Given the description of an element on the screen output the (x, y) to click on. 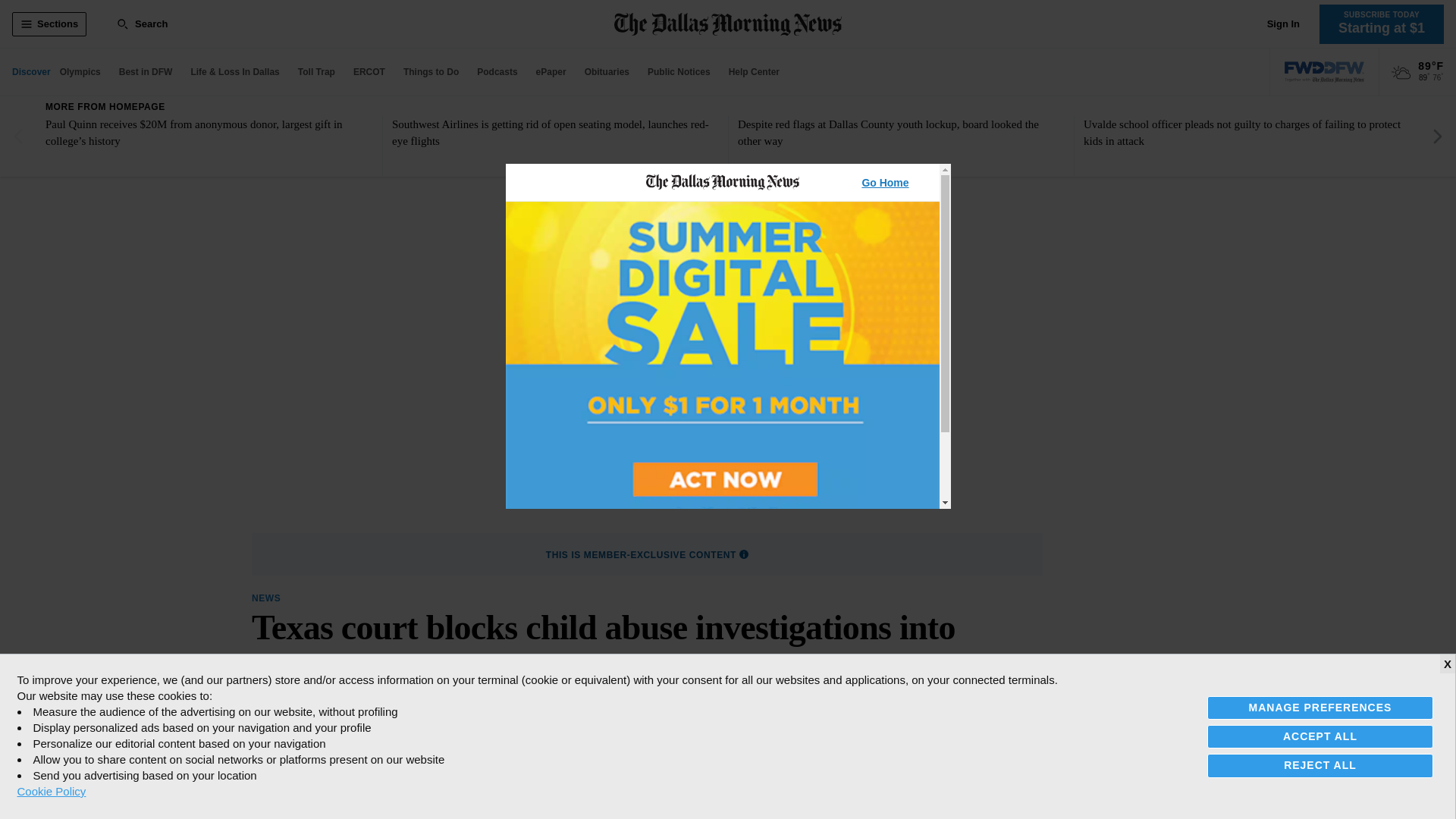
Broken clouds (1400, 72)
REJECT ALL (1319, 765)
FWD DFW, Together with The Dallas Morning News (1324, 72)
MANAGE PREFERENCES (1319, 707)
ACCEPT ALL (1319, 736)
Cookie Policy (50, 790)
